Given the description of an element on the screen output the (x, y) to click on. 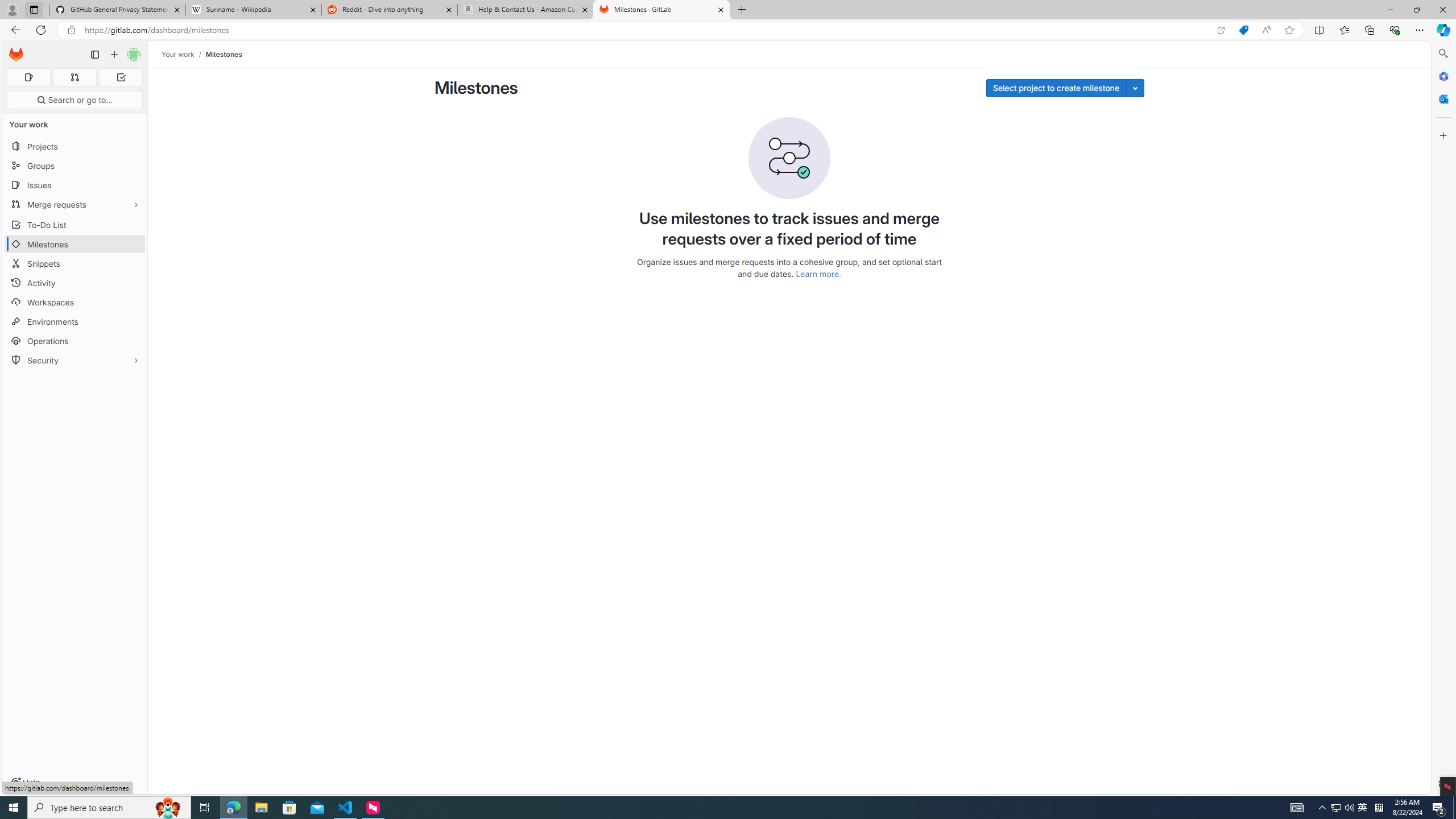
Close Outlook pane (1442, 98)
Groups (74, 165)
Merge requests 0 (74, 76)
Reddit - Dive into anything (390, 9)
Toggle project select (1134, 87)
Issues (74, 185)
Projects (74, 145)
To-Do list 0 (120, 76)
